Given the description of an element on the screen output the (x, y) to click on. 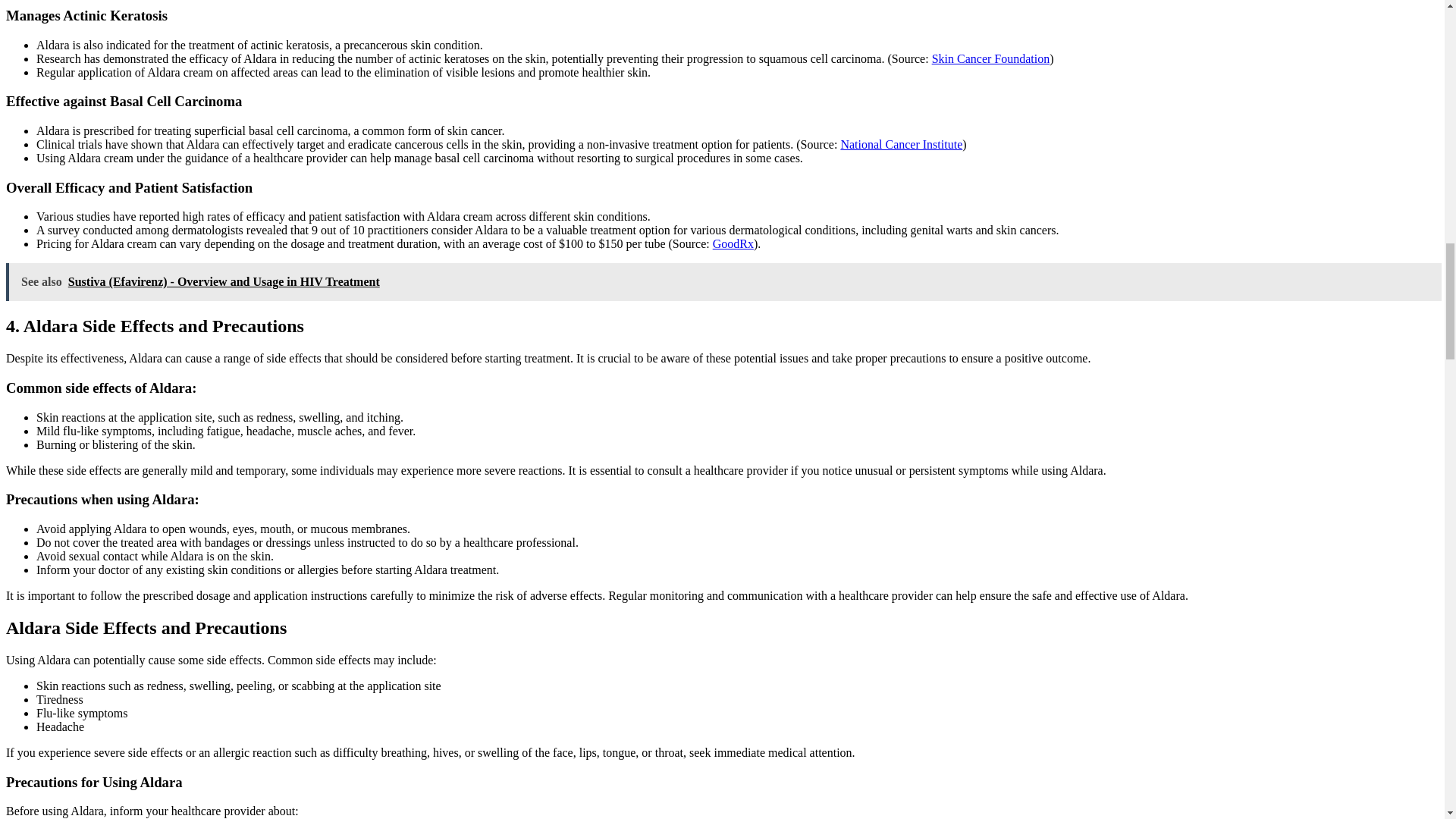
GoodRx (733, 243)
Skin Cancer Foundation (990, 58)
National Cancer Institute (901, 144)
